Given the description of an element on the screen output the (x, y) to click on. 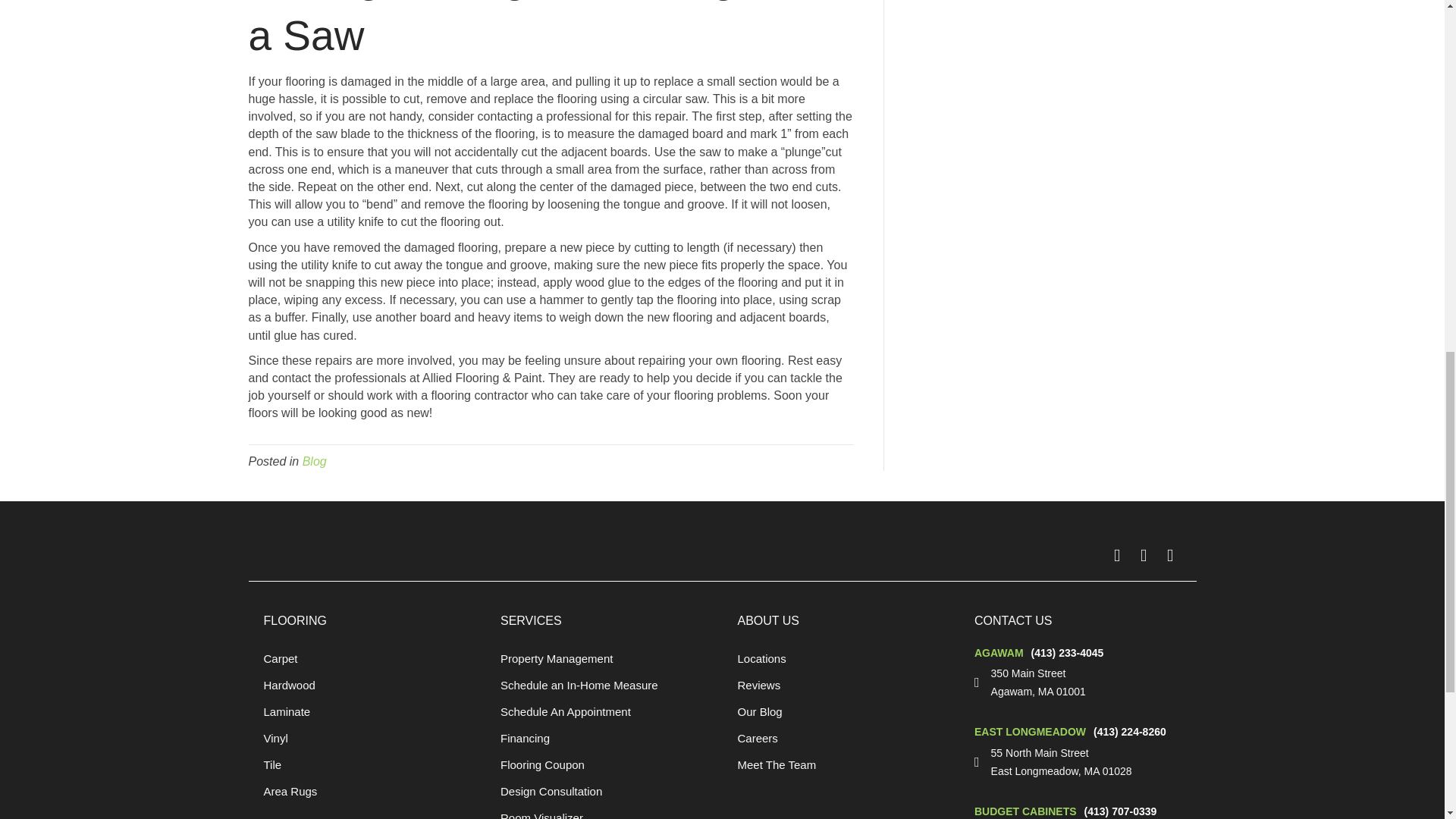
SERVICES (531, 620)
ABOUT US (767, 620)
CONTACT US (1013, 620)
FLOORING (295, 620)
